Given the description of an element on the screen output the (x, y) to click on. 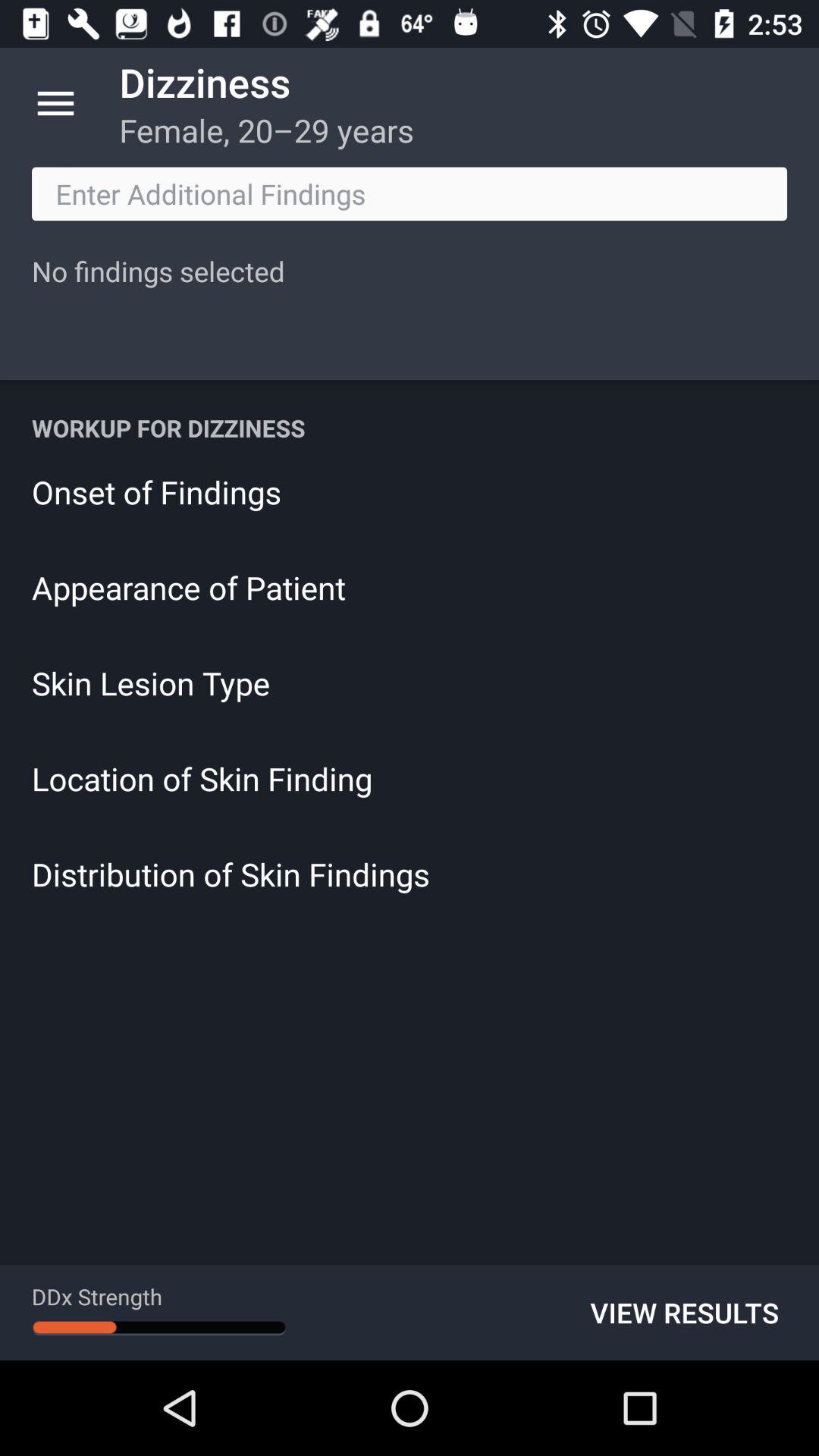
tap view results icon (684, 1312)
